Given the description of an element on the screen output the (x, y) to click on. 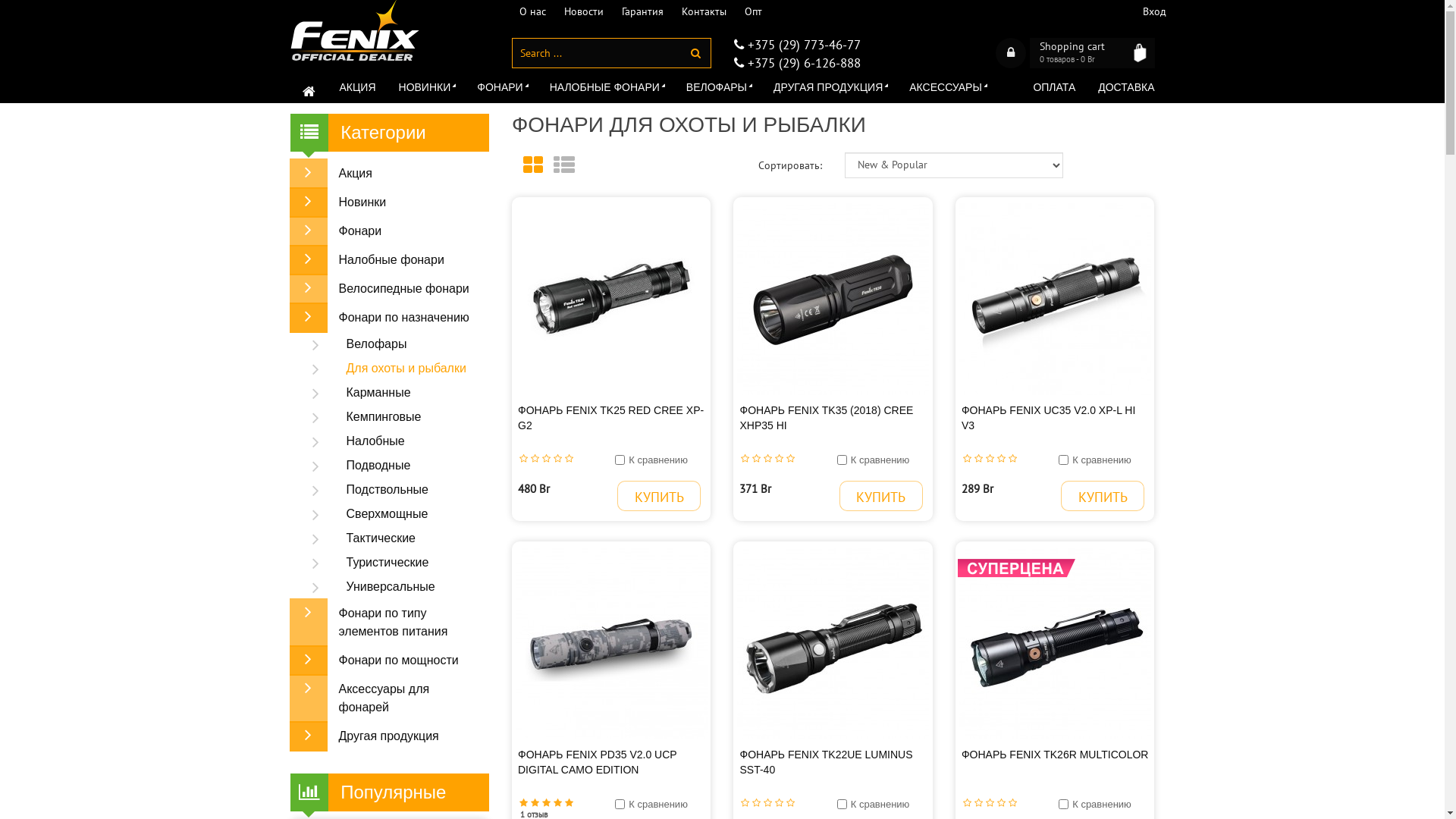
+375 (29) 773-46-77 Element type: text (801, 44)
Login Element type: hover (1009, 52)
+375 (29) 6-126-888 Element type: text (801, 62)
